Given the description of an element on the screen output the (x, y) to click on. 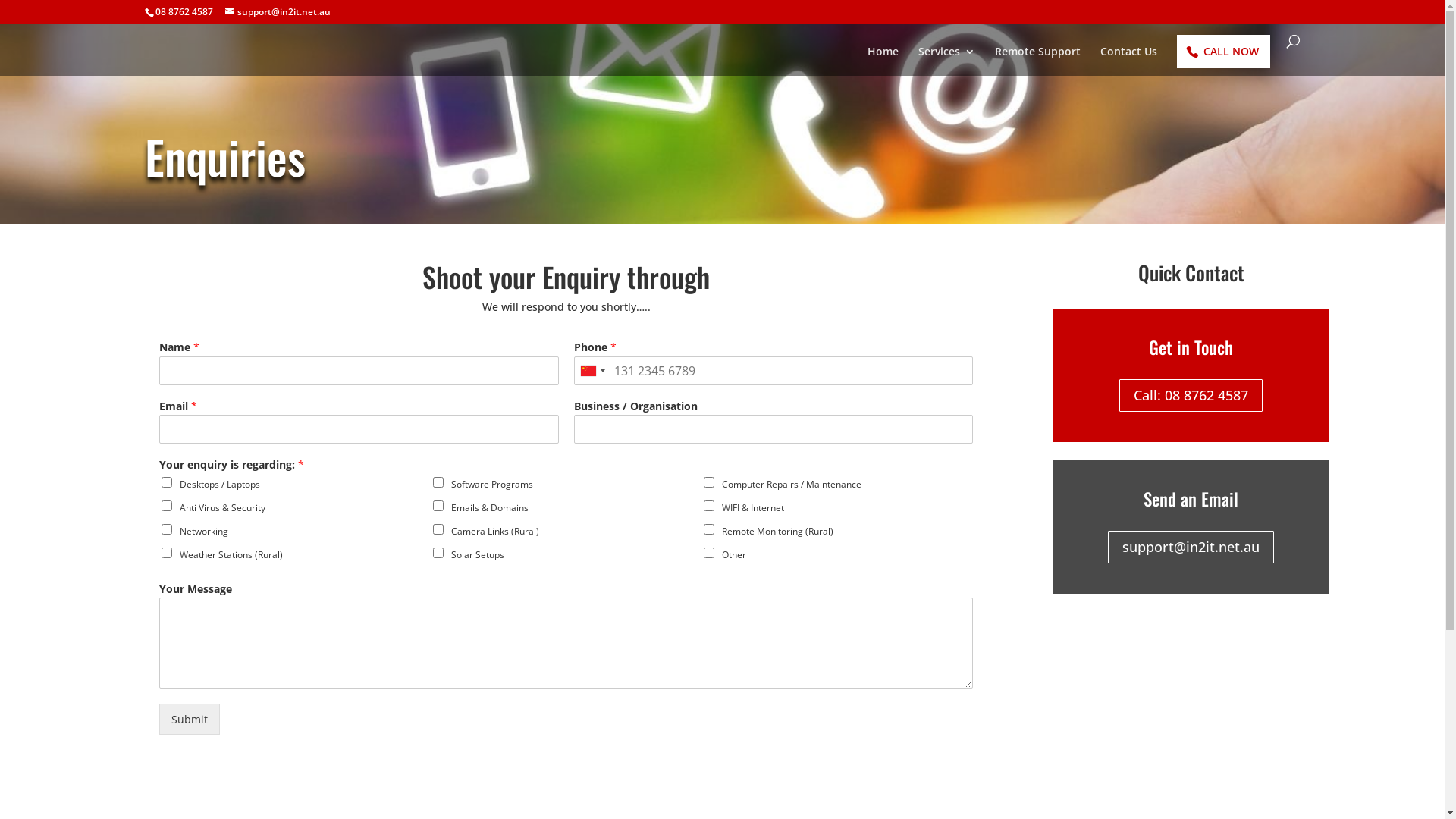
support@in2it.net.au Element type: text (276, 11)
Submit Element type: text (189, 718)
Home Element type: text (882, 57)
support@in2it.net.au Element type: text (1190, 546)
Services Element type: text (945, 57)
Remote Support Element type: text (1037, 57)
Contact Us Element type: text (1127, 57)
CALL NOW Element type: text (1223, 51)
Call: 08 8762 4587 Element type: text (1190, 395)
